Given the description of an element on the screen output the (x, y) to click on. 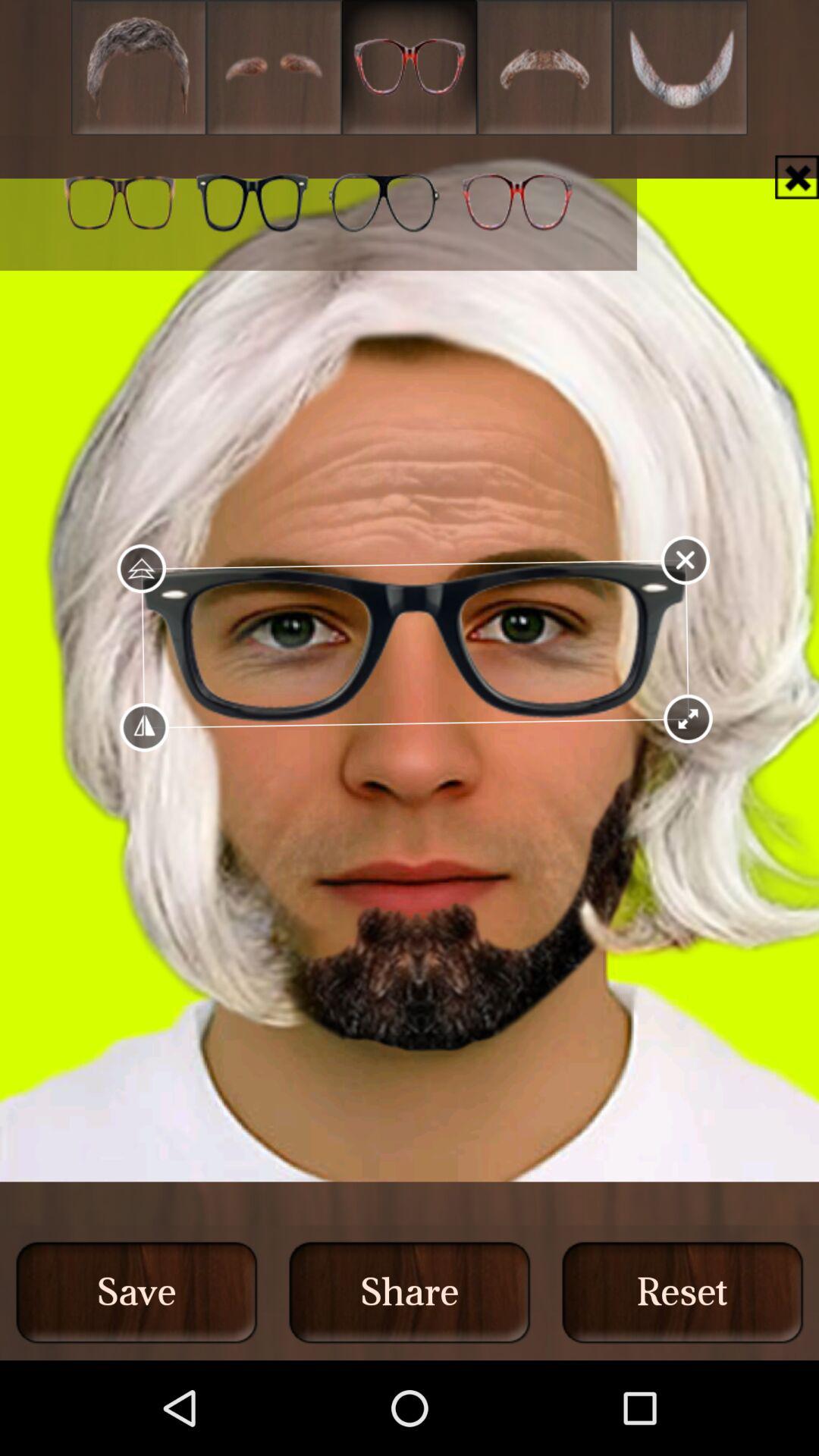
click on the middle button at the bottom of the page (409, 1291)
